Given the description of an element on the screen output the (x, y) to click on. 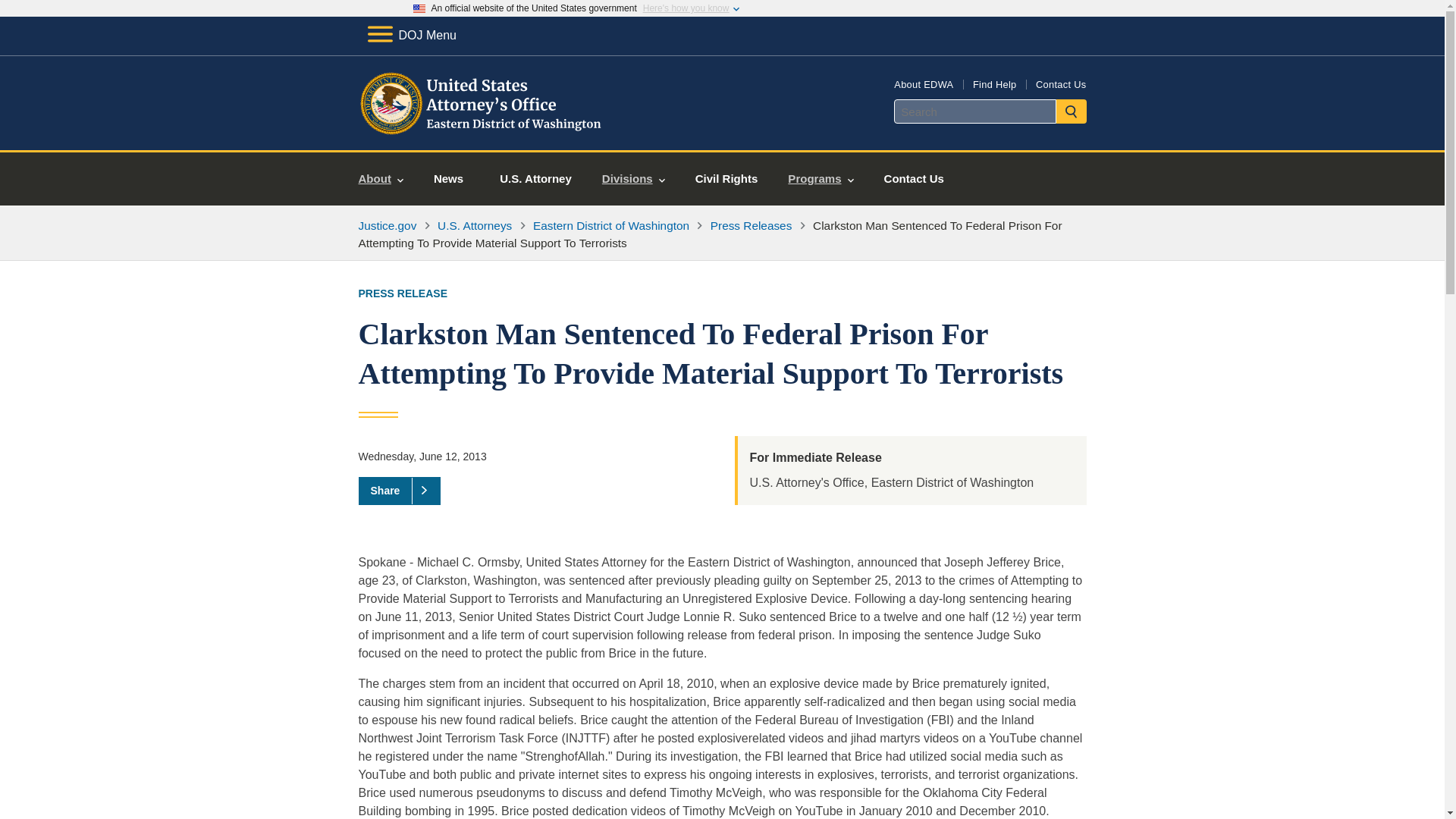
Eastern District of Washington (610, 225)
Contact Us (1060, 84)
About (380, 179)
Home (481, 132)
Press Releases (751, 225)
Find Help (994, 84)
Contact Us (914, 179)
U.S. Attorneys (475, 225)
Divisions (633, 179)
About EDWA (923, 84)
